Given the description of an element on the screen output the (x, y) to click on. 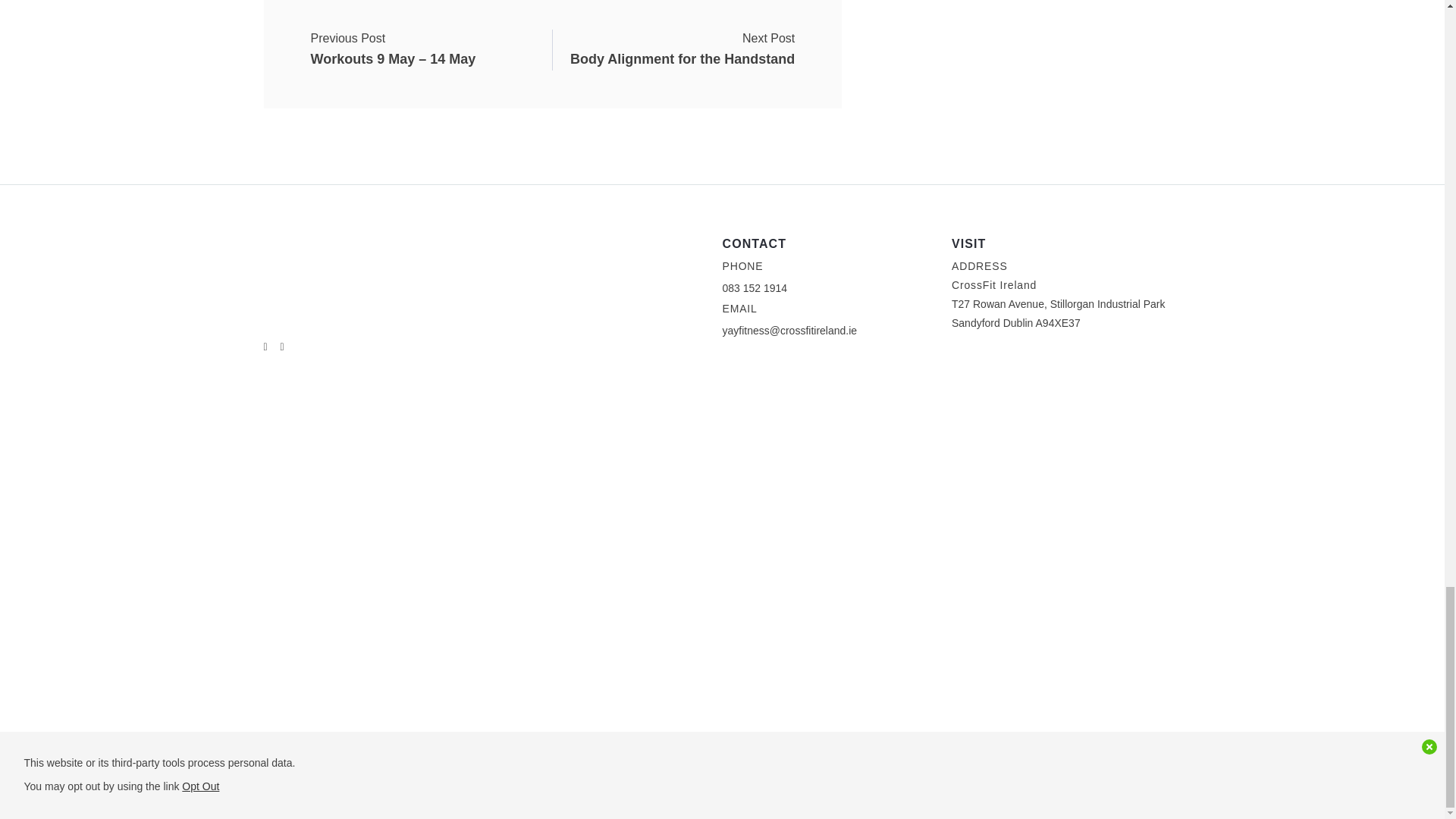
Body Alignment for the Handstand (682, 49)
